Given the description of an element on the screen output the (x, y) to click on. 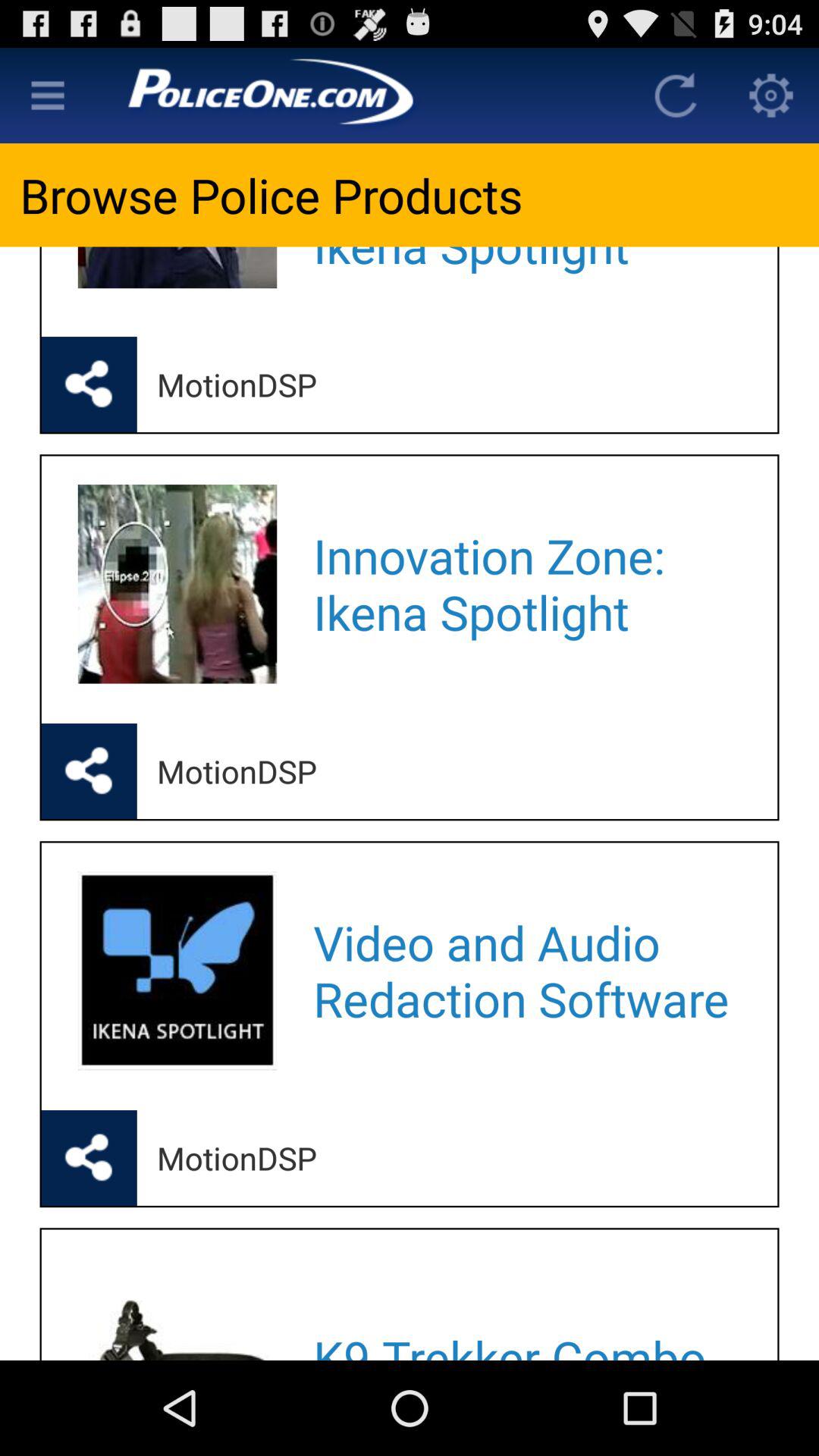
turn on app below the motiondsp (525, 583)
